Given the description of an element on the screen output the (x, y) to click on. 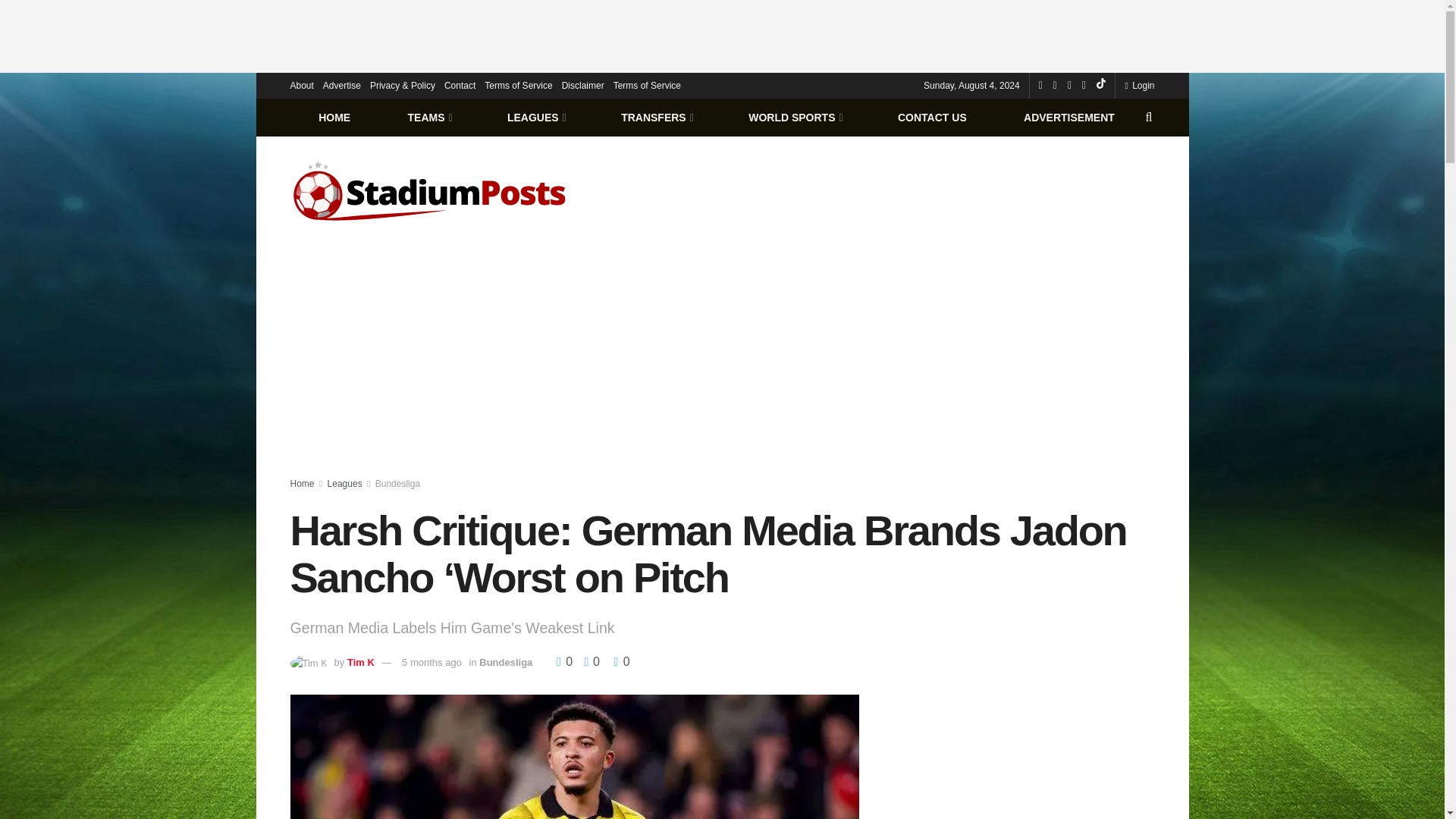
HOME (333, 117)
Terms of Service (517, 85)
Disclaimer (583, 85)
CONTACT US (931, 117)
Terms of Service (646, 85)
About (301, 85)
ADVERTISEMENT (1068, 117)
Login (1139, 85)
TRANSFERS (655, 117)
